Given the description of an element on the screen output the (x, y) to click on. 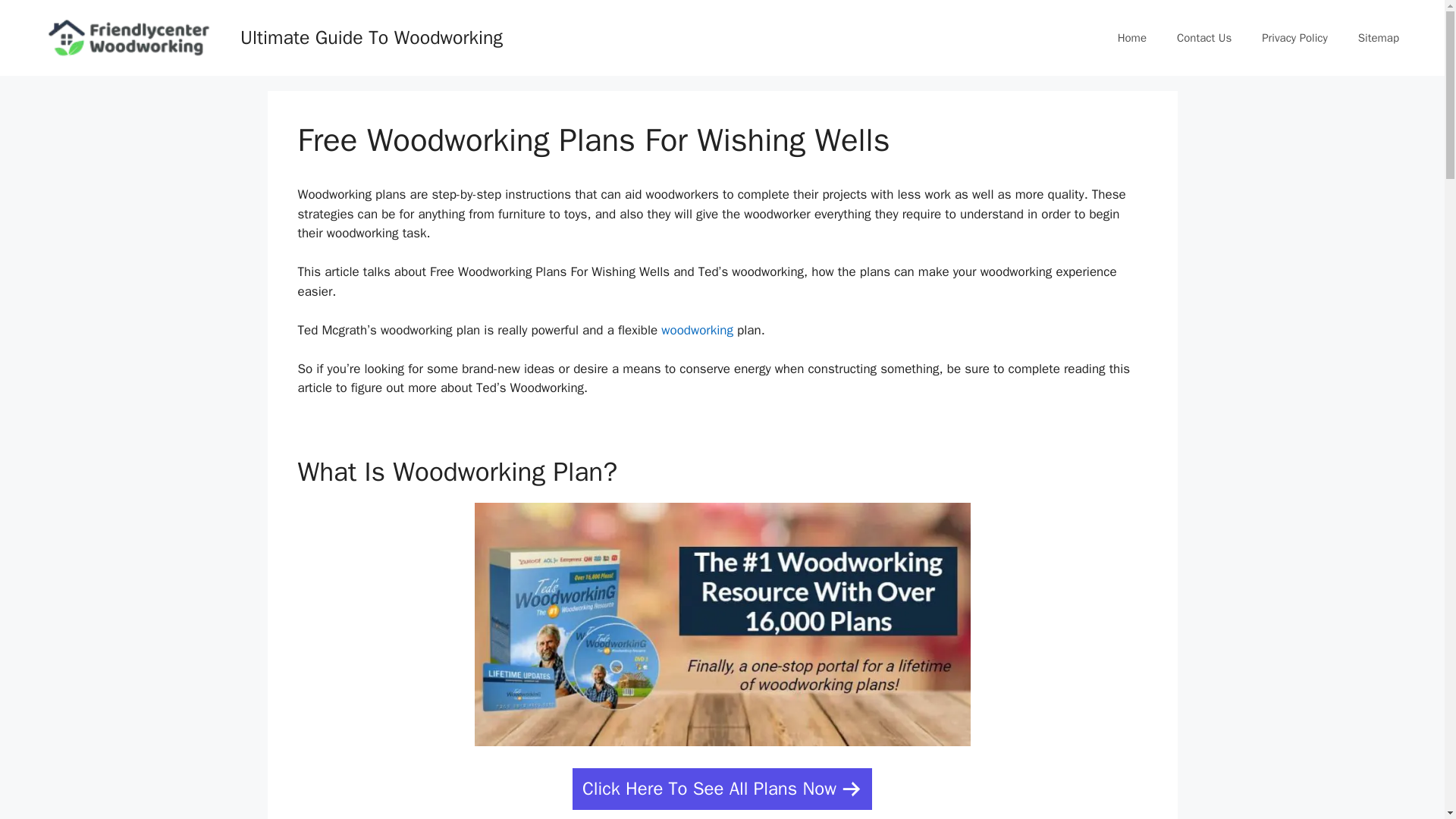
Click Here To See All Plans Now (722, 788)
Home (1131, 37)
Sitemap (1377, 37)
Contact Us (1203, 37)
Privacy Policy (1294, 37)
woodworking (697, 330)
Ultimate Guide To Woodworking (371, 37)
